Given the description of an element on the screen output the (x, y) to click on. 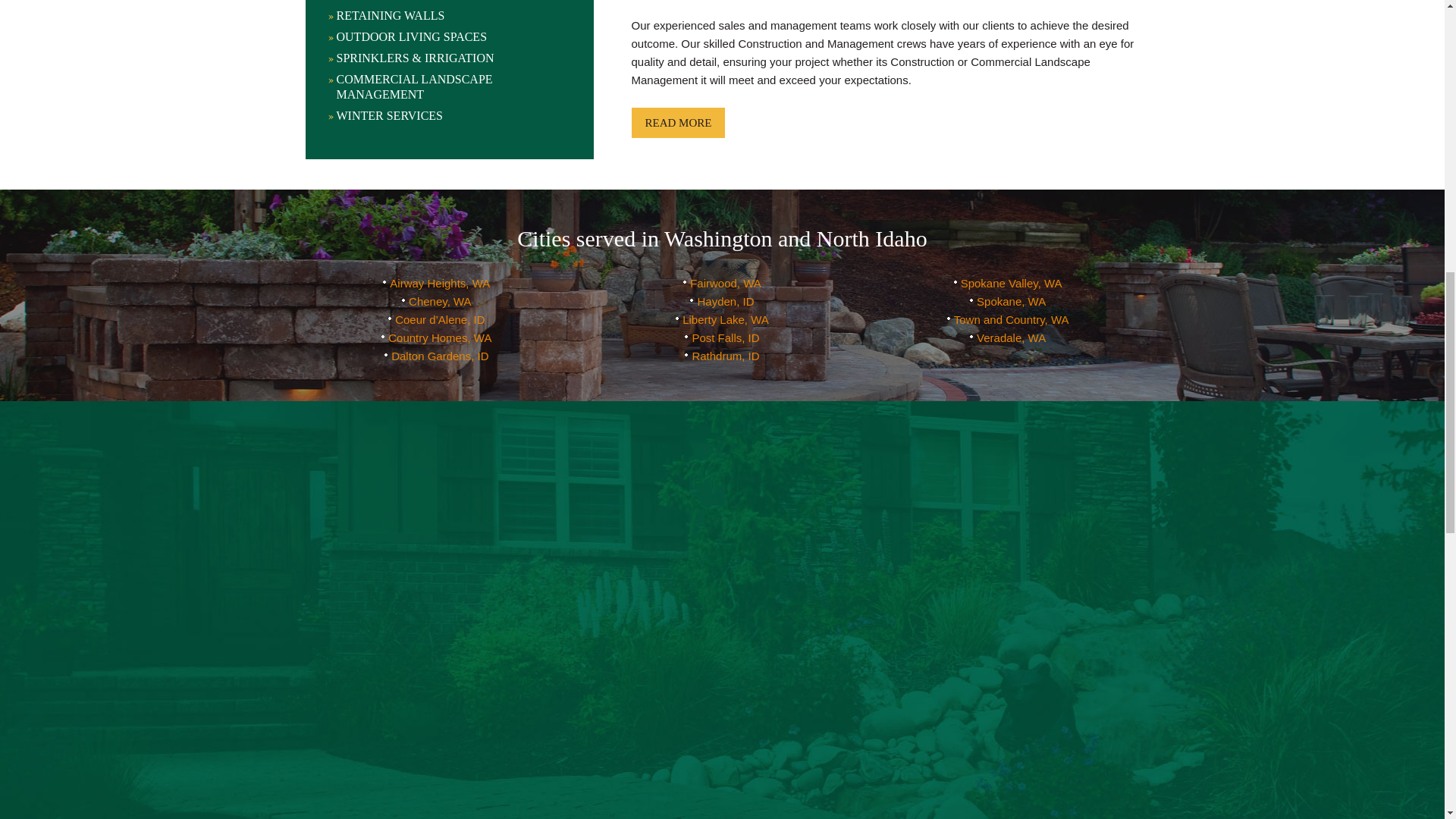
Country Homes, WA (436, 337)
Airway Heights, WA (435, 282)
RETAINING WALLS (444, 15)
COMMERCIAL LANDSCAPE MANAGEMENT (444, 87)
Dalton Gardens, ID (435, 355)
Fairwood, WA (721, 282)
WINTER SERVICES (444, 115)
OUTDOOR LIVING SPACES (444, 37)
READ MORE (677, 122)
Cheney, WA (436, 300)
